Given the description of an element on the screen output the (x, y) to click on. 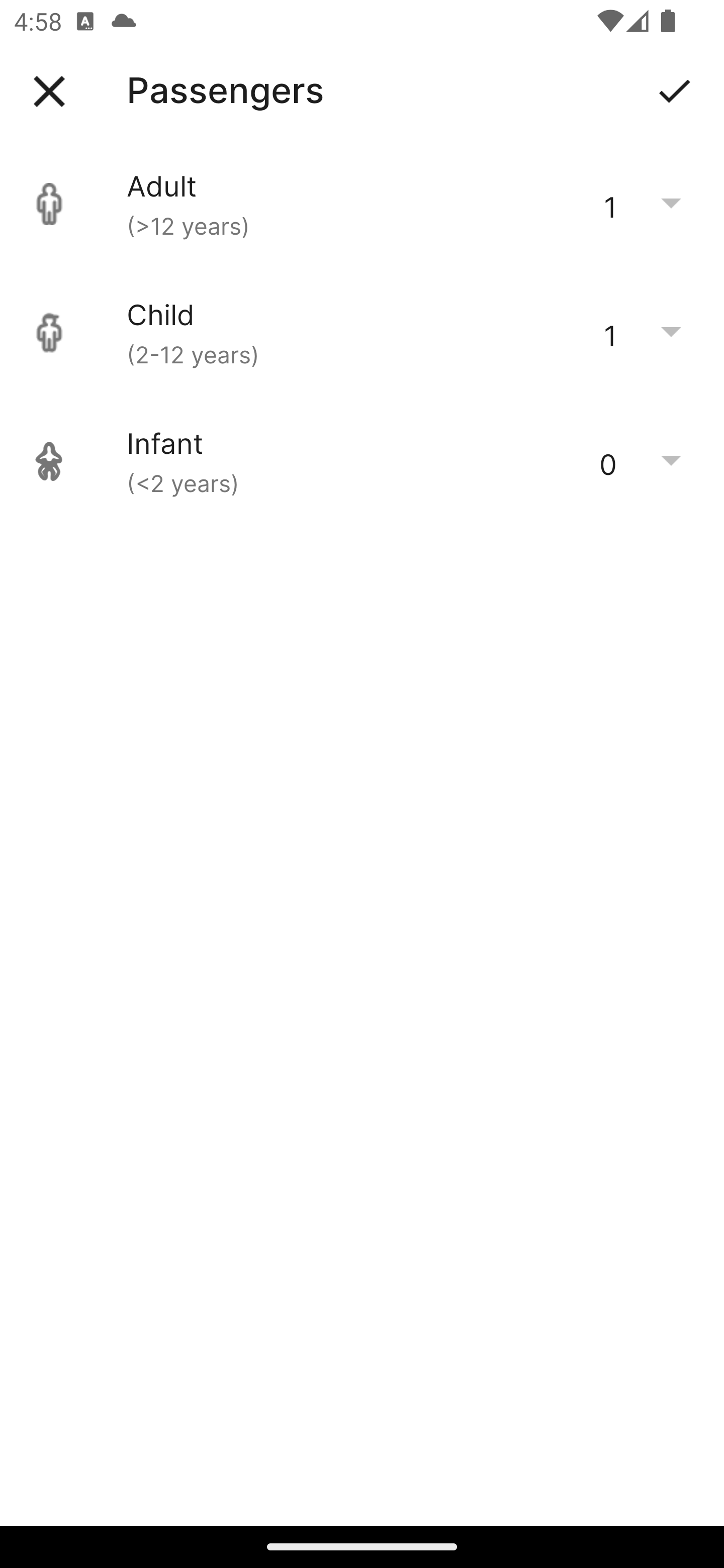
Adult (>12 years) 1 (362, 204)
Child (2-12 years) 1 (362, 332)
Infant (<2 years) 0 (362, 461)
